Given the description of an element on the screen output the (x, y) to click on. 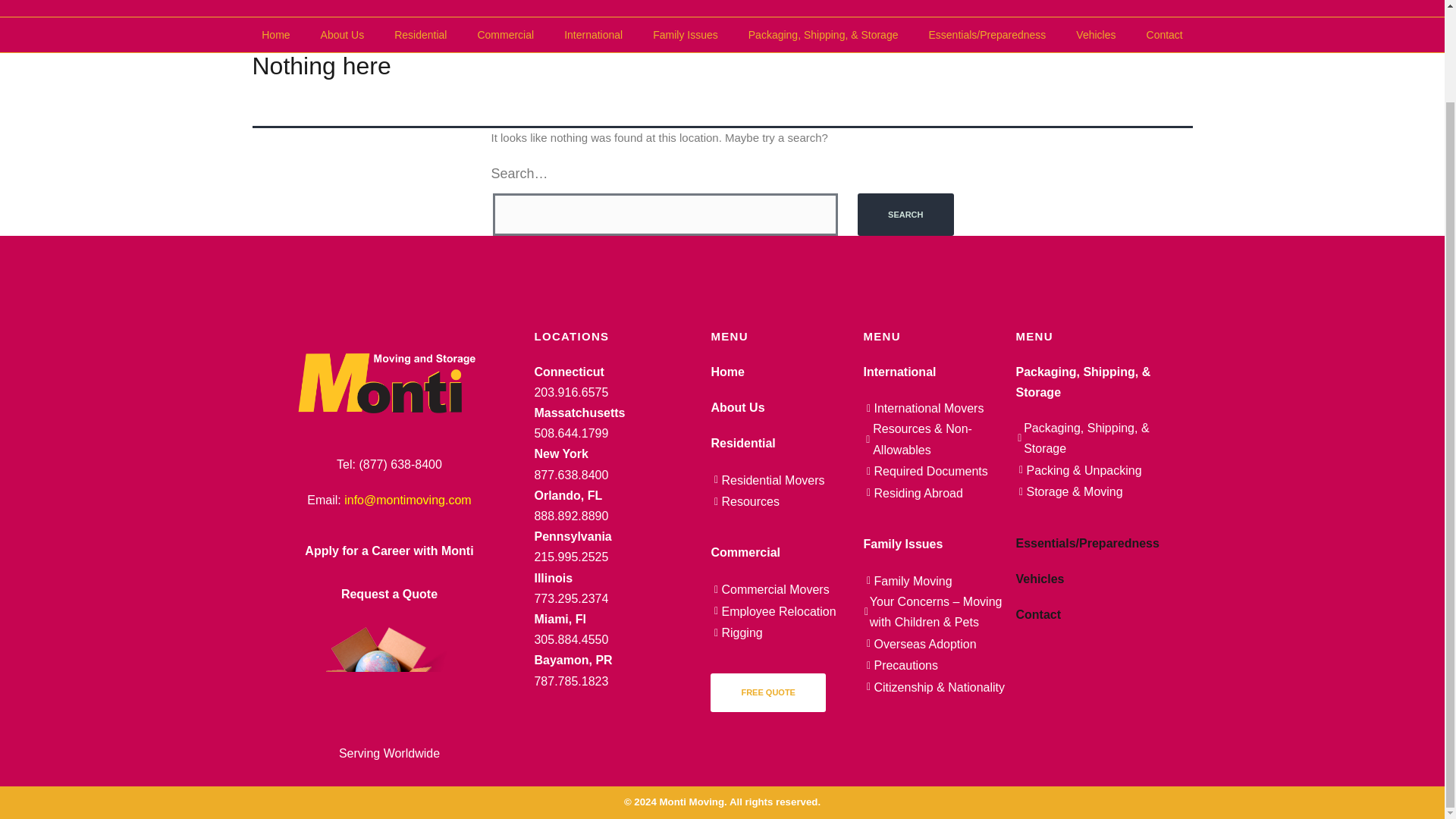
Home (275, 34)
Search (905, 214)
Residential (419, 34)
Search (905, 214)
Family Issues (685, 34)
Vehicles (1096, 34)
Contact (1164, 34)
International (592, 34)
Commercial (504, 34)
About Us (342, 34)
